Given the description of an element on the screen output the (x, y) to click on. 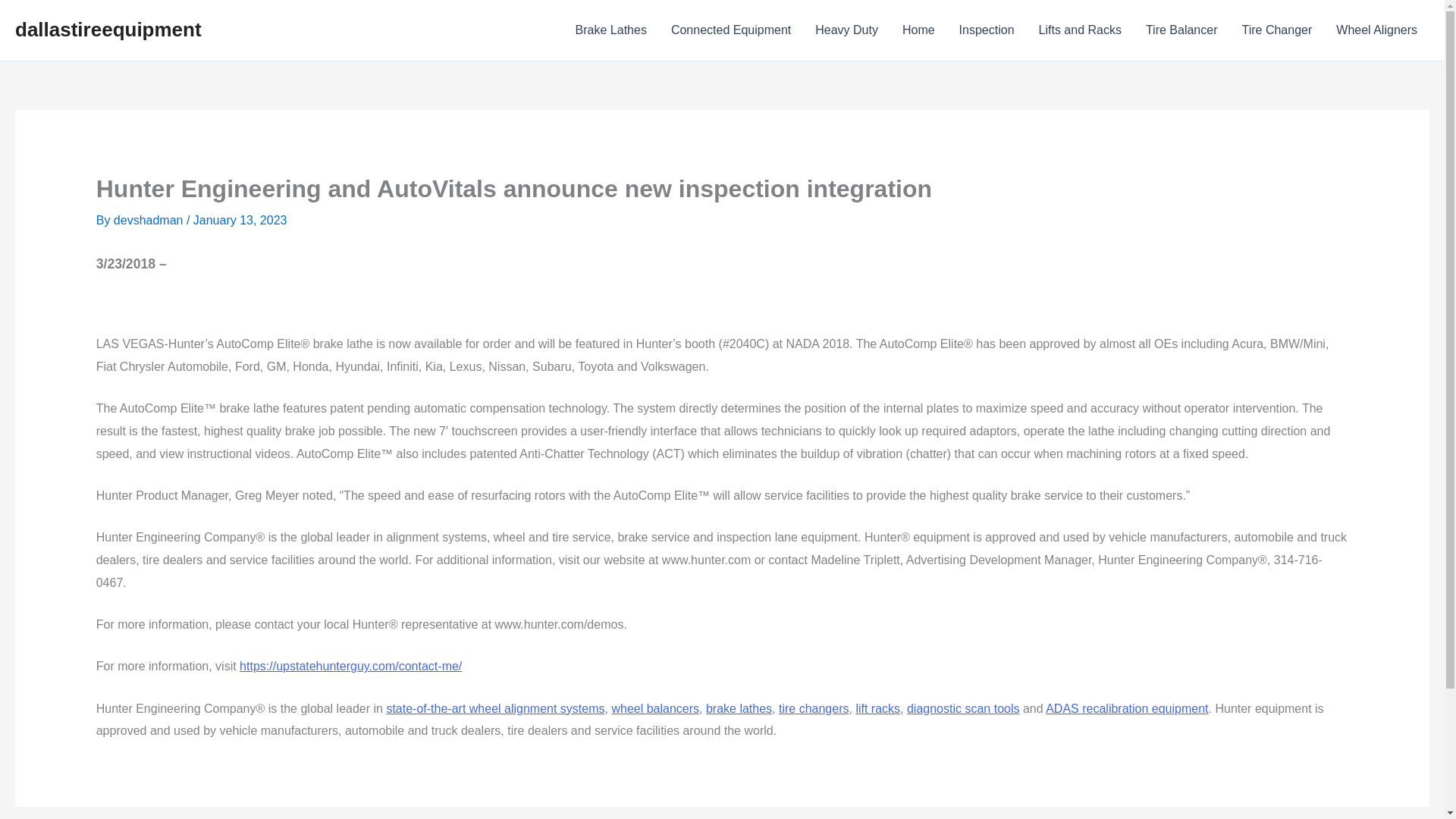
Brake Lathes (611, 30)
Tire Balancer (1182, 30)
Home (918, 30)
Inspection (986, 30)
ADAS recalibration equipment (1126, 707)
Wheel Aligners (1376, 30)
Connected Equipment (731, 30)
Heavy Duty (846, 30)
diagnostic scan tools (963, 707)
Lifts and Racks (1080, 30)
devshadman (149, 219)
dallastireequipment (108, 29)
View all posts by devshadman (149, 219)
lift racks (877, 707)
tire changers (813, 707)
